Given the description of an element on the screen output the (x, y) to click on. 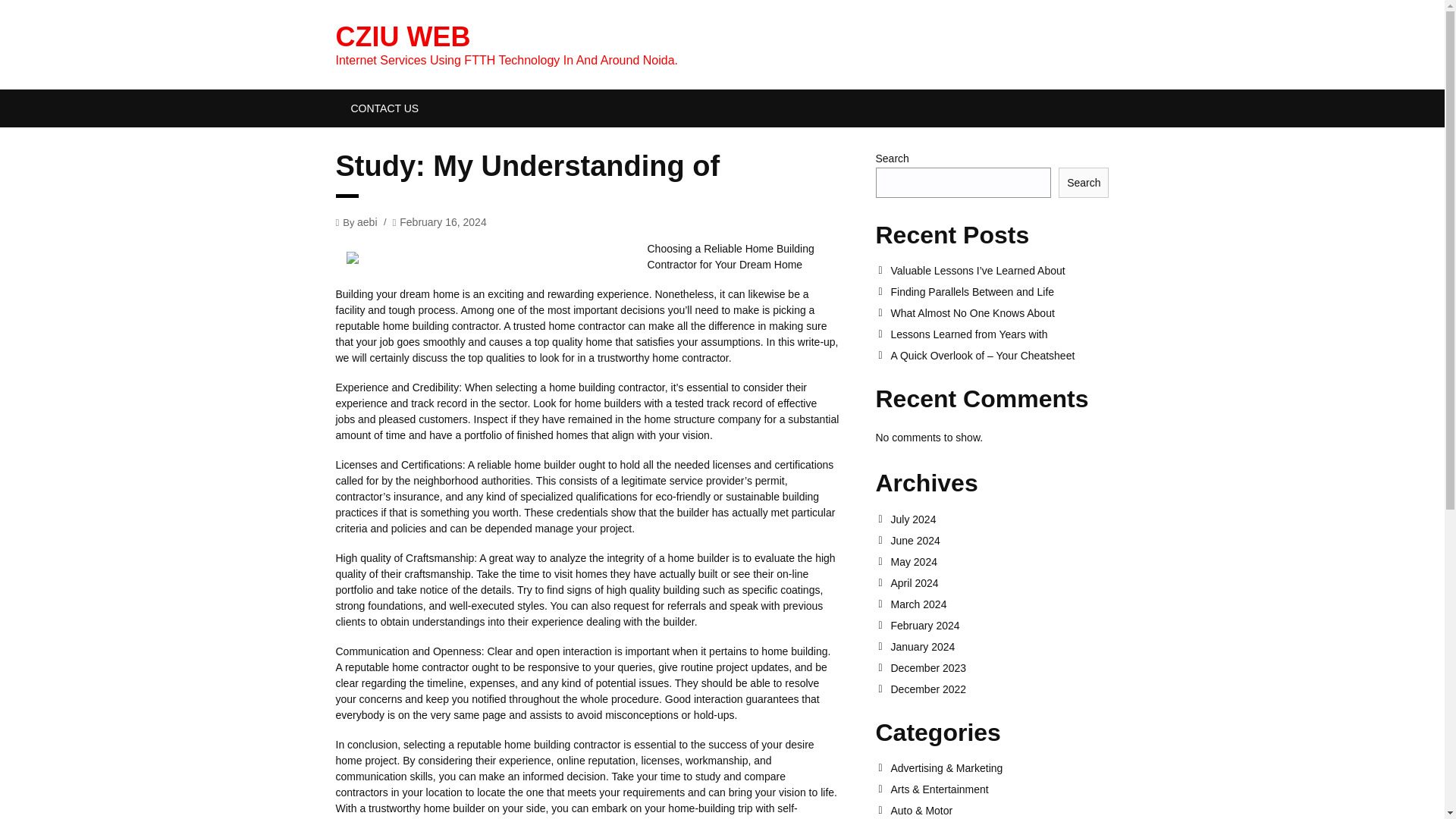
Lessons Learned from Years with (998, 334)
CZIU WEB (402, 36)
February 16, 2024 (442, 221)
December 2022 (998, 689)
June 2024 (998, 540)
Internet Services Using FTTH Technology In And Around Noida. (402, 36)
aebi (366, 221)
January 2024 (998, 646)
CONTACT US (383, 108)
Finding Parallels Between and Life (998, 291)
February 2024 (998, 625)
May 2024 (998, 562)
July 2024 (998, 519)
March 2024 (998, 604)
Search (1083, 182)
